Given the description of an element on the screen output the (x, y) to click on. 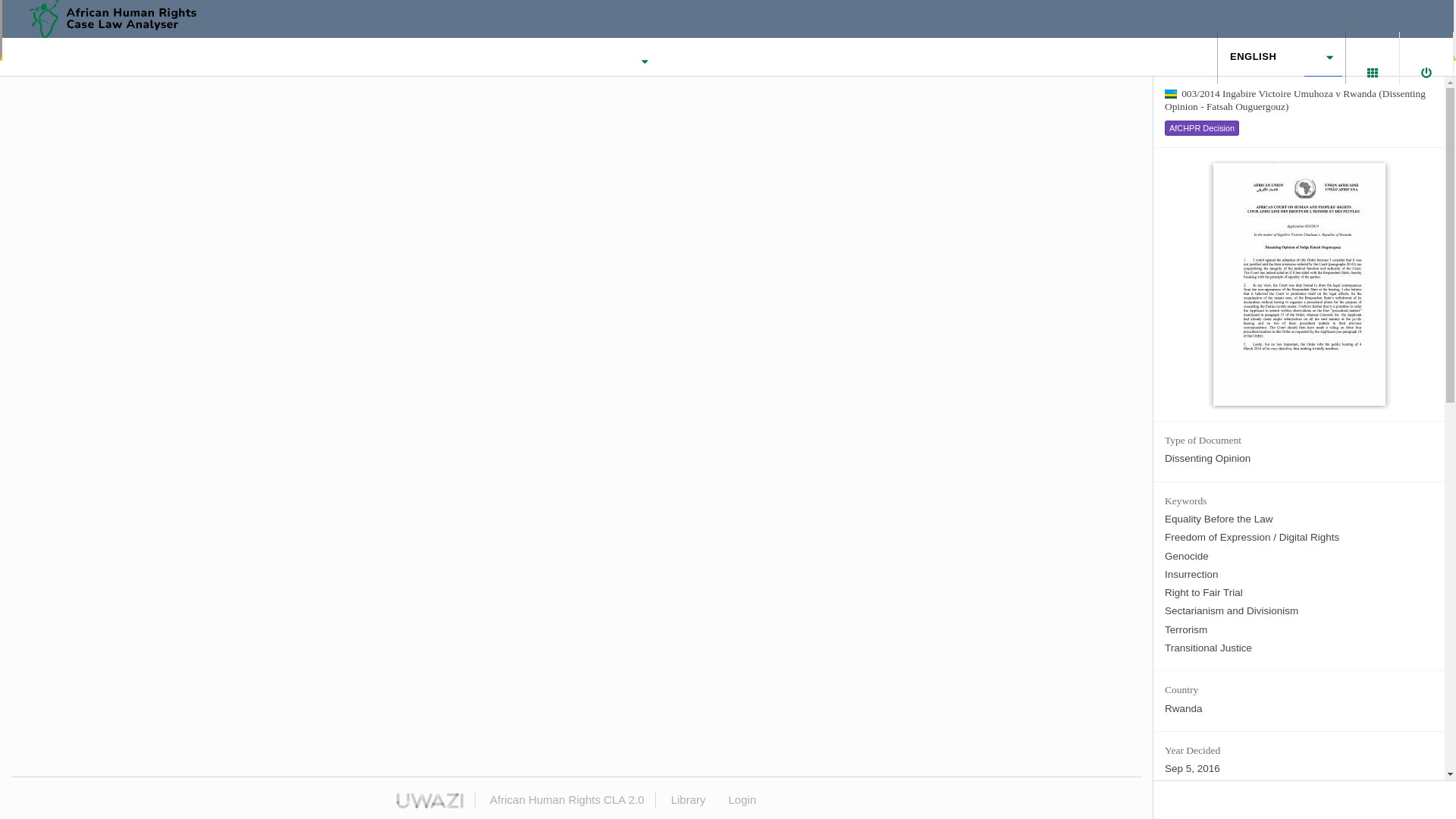
DATABASE (487, 61)
1 (1361, 58)
uwazi (429, 800)
HR MECHANISMS  (593, 61)
Next (588, 56)
ABOUT (689, 61)
African Human Rights CLA 2.0 (122, 18)
Library (1280, 56)
HELP (688, 799)
